Given the description of an element on the screen output the (x, y) to click on. 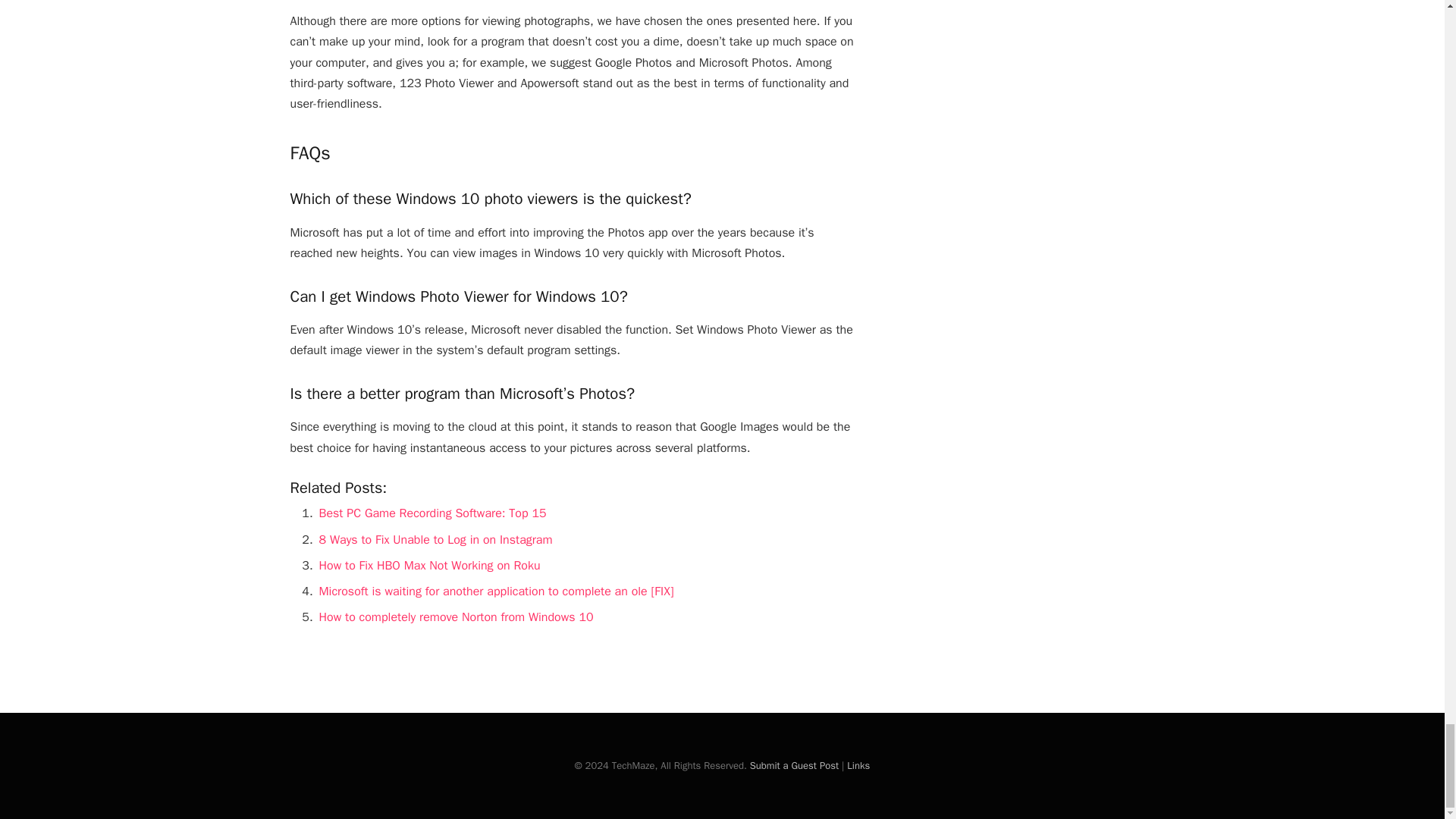
Best PC Game Recording Software: Top 15 (432, 513)
